Given the description of an element on the screen output the (x, y) to click on. 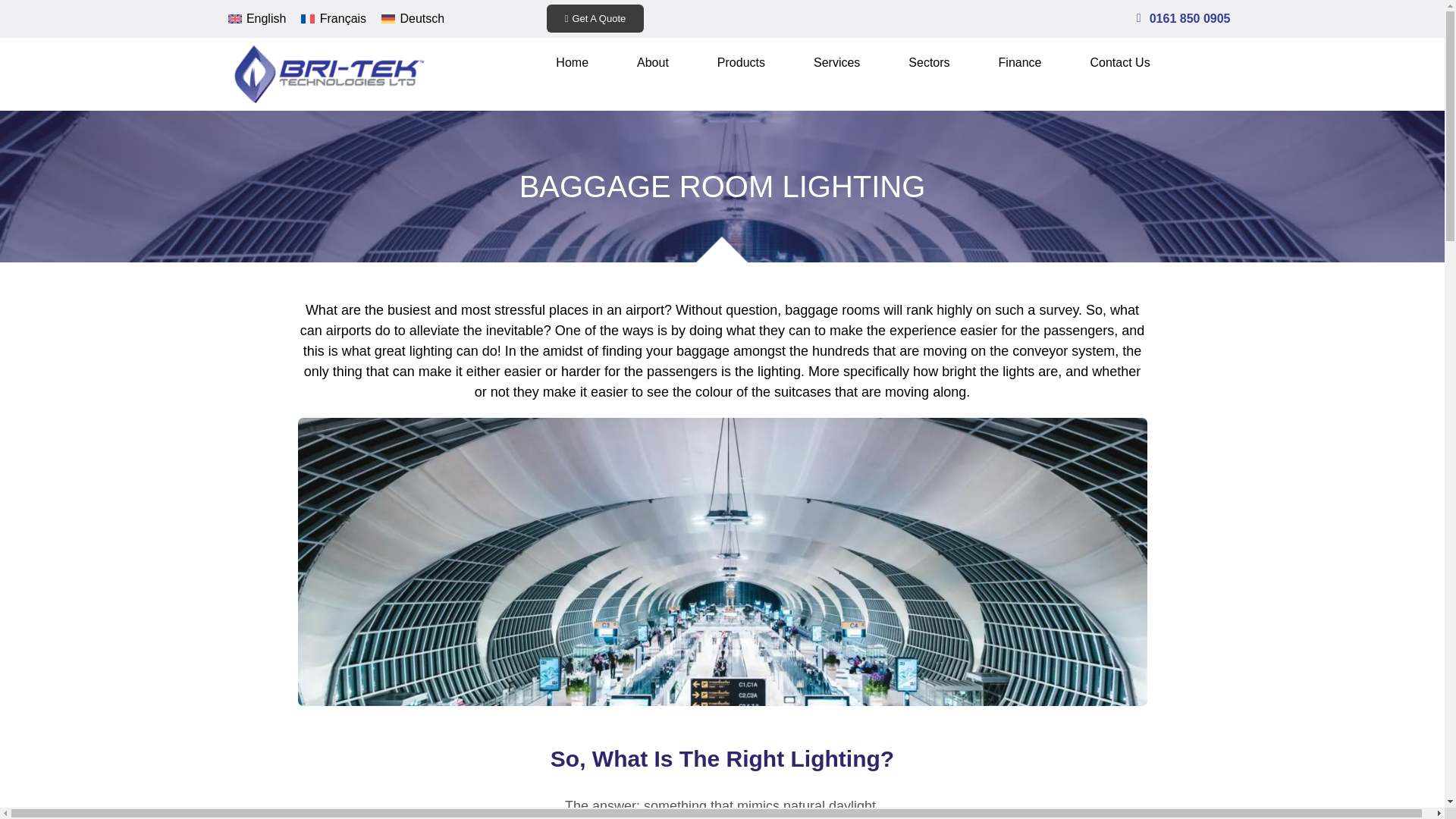
Deutsch (412, 18)
Products (741, 62)
About (652, 62)
0161 850 0905 (1190, 18)
English (256, 18)
Home (572, 62)
Get A Quote (596, 18)
